Given the description of an element on the screen output the (x, y) to click on. 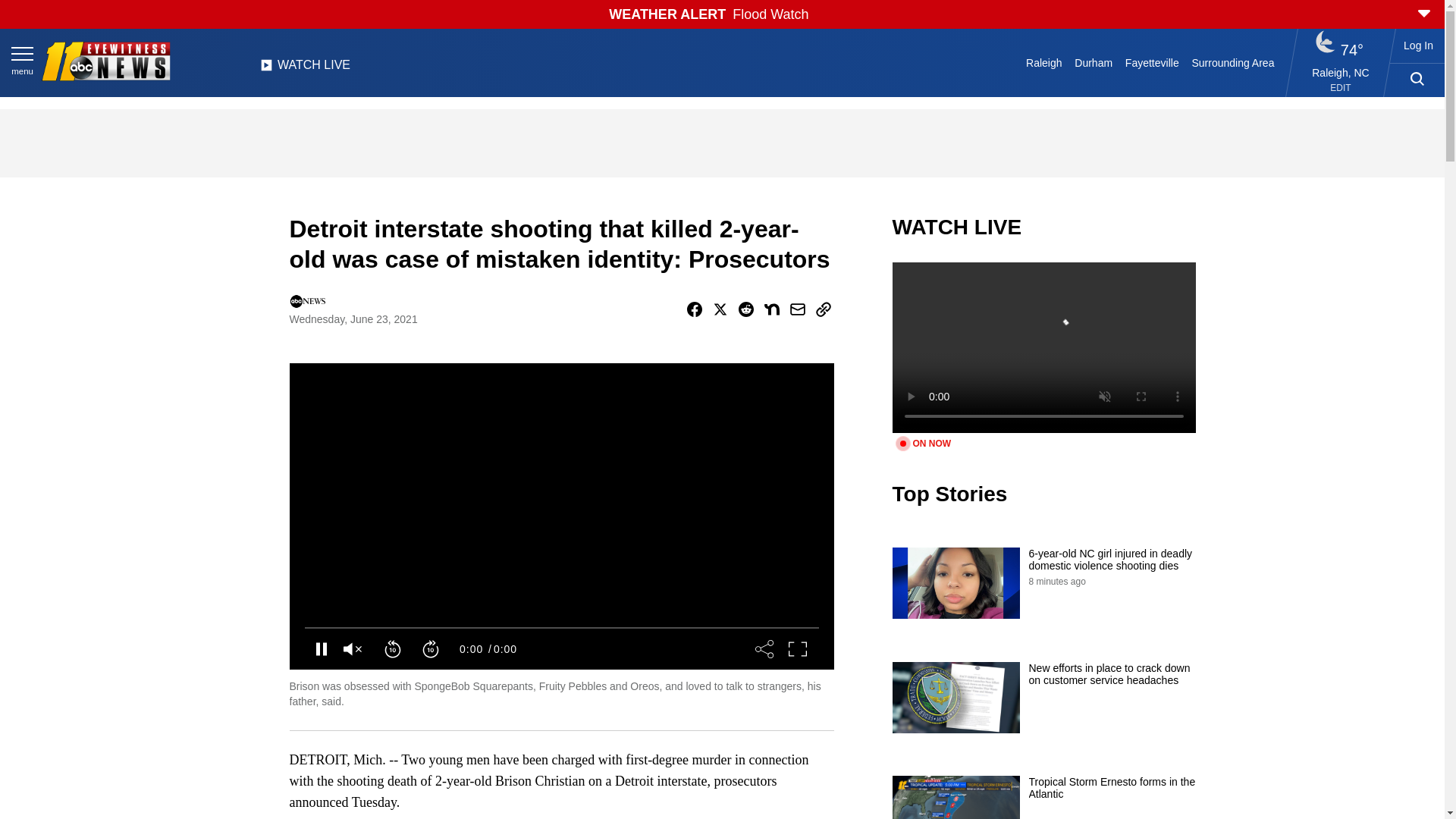
WATCH LIVE (305, 69)
Raleigh (1044, 62)
Surrounding Area (1233, 62)
Durham (1093, 62)
video.title (1043, 347)
EDIT (1340, 87)
Raleigh, NC (1340, 72)
Fayetteville (1151, 62)
